Given the description of an element on the screen output the (x, y) to click on. 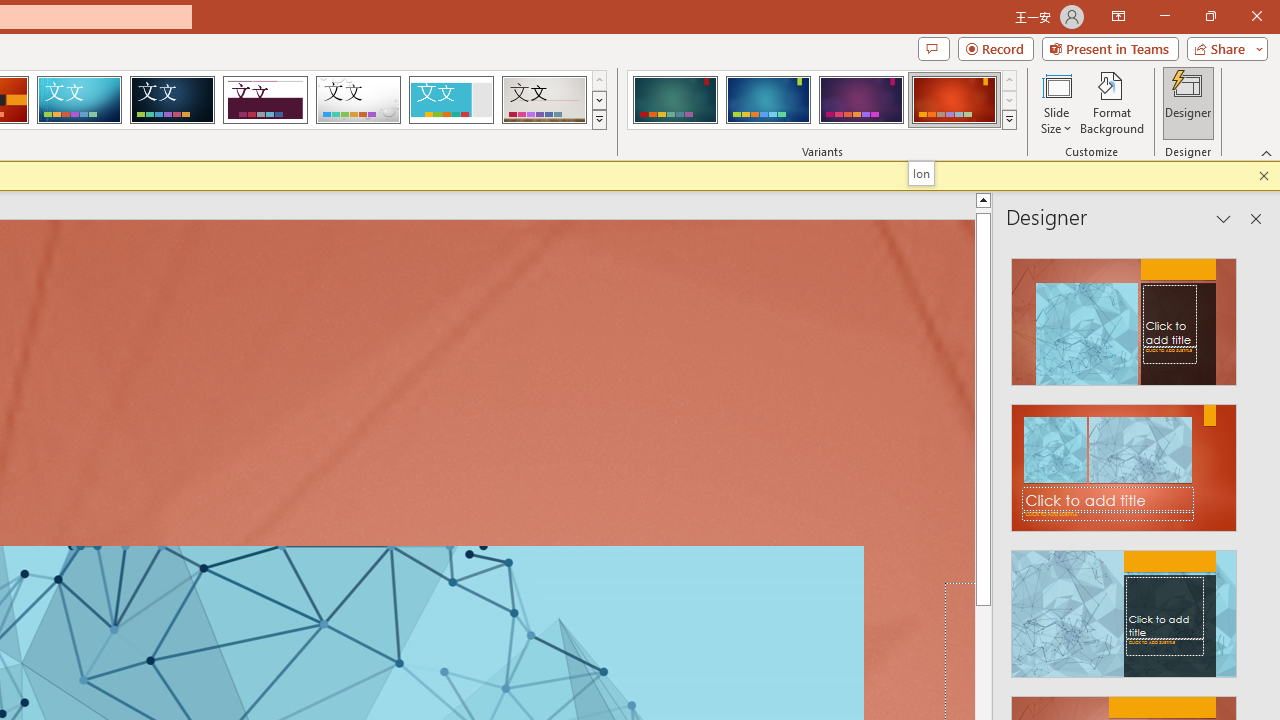
Droplet (358, 100)
Ion Variant 2 (768, 100)
Damask (171, 100)
Ion (920, 173)
Close this message (1263, 176)
Circuit (79, 100)
